Given the description of an element on the screen output the (x, y) to click on. 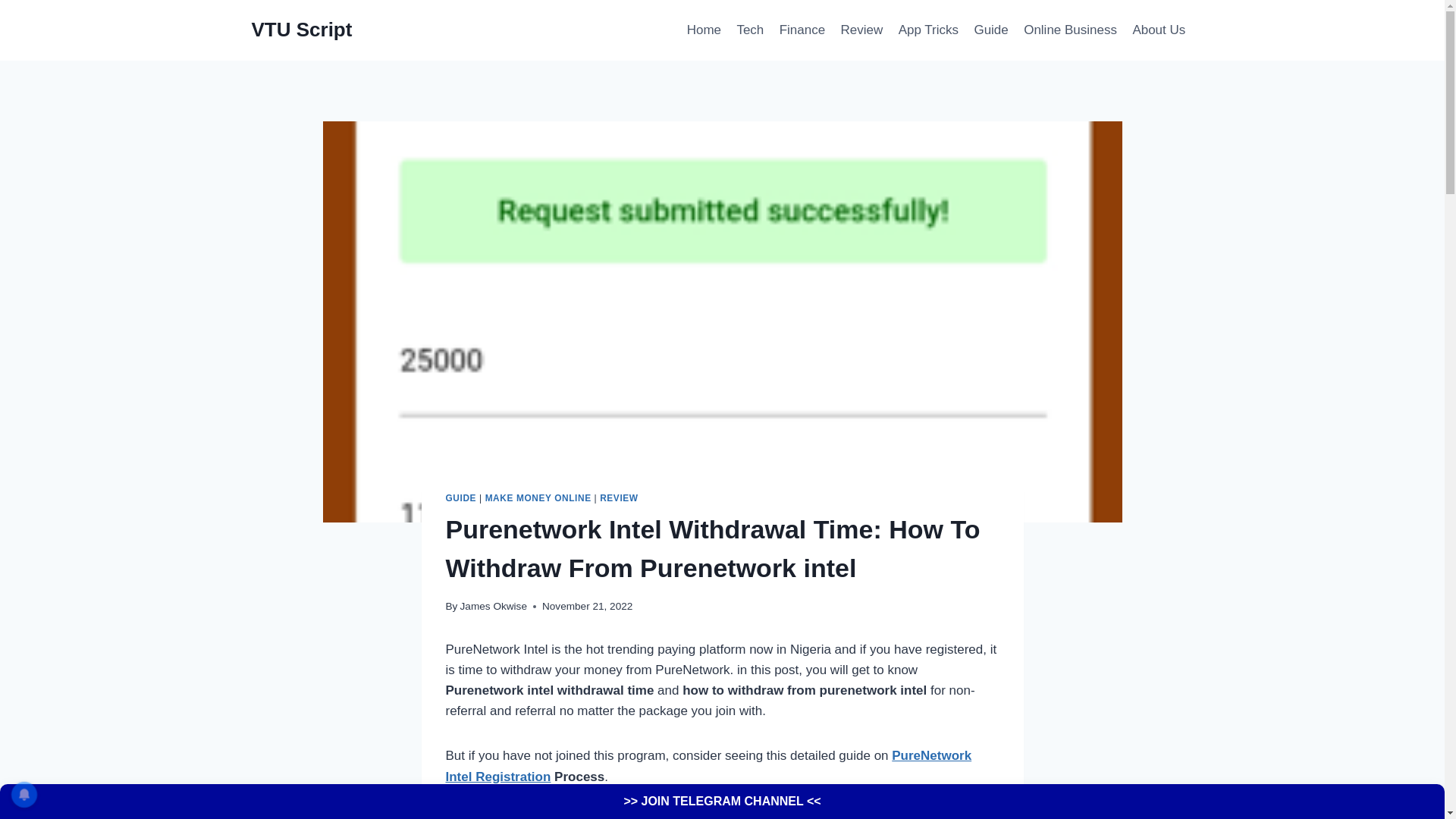
Tech (750, 30)
Finance (801, 30)
Guide (991, 30)
James Okwise (493, 605)
VTU Script (301, 29)
GUIDE (461, 498)
Review (860, 30)
App Tricks (927, 30)
REVIEW (618, 498)
Home (703, 30)
MAKE MONEY ONLINE (537, 498)
PureNetwork Intel Registration (708, 765)
Online Business (1070, 30)
About Us (1158, 30)
